Given the description of an element on the screen output the (x, y) to click on. 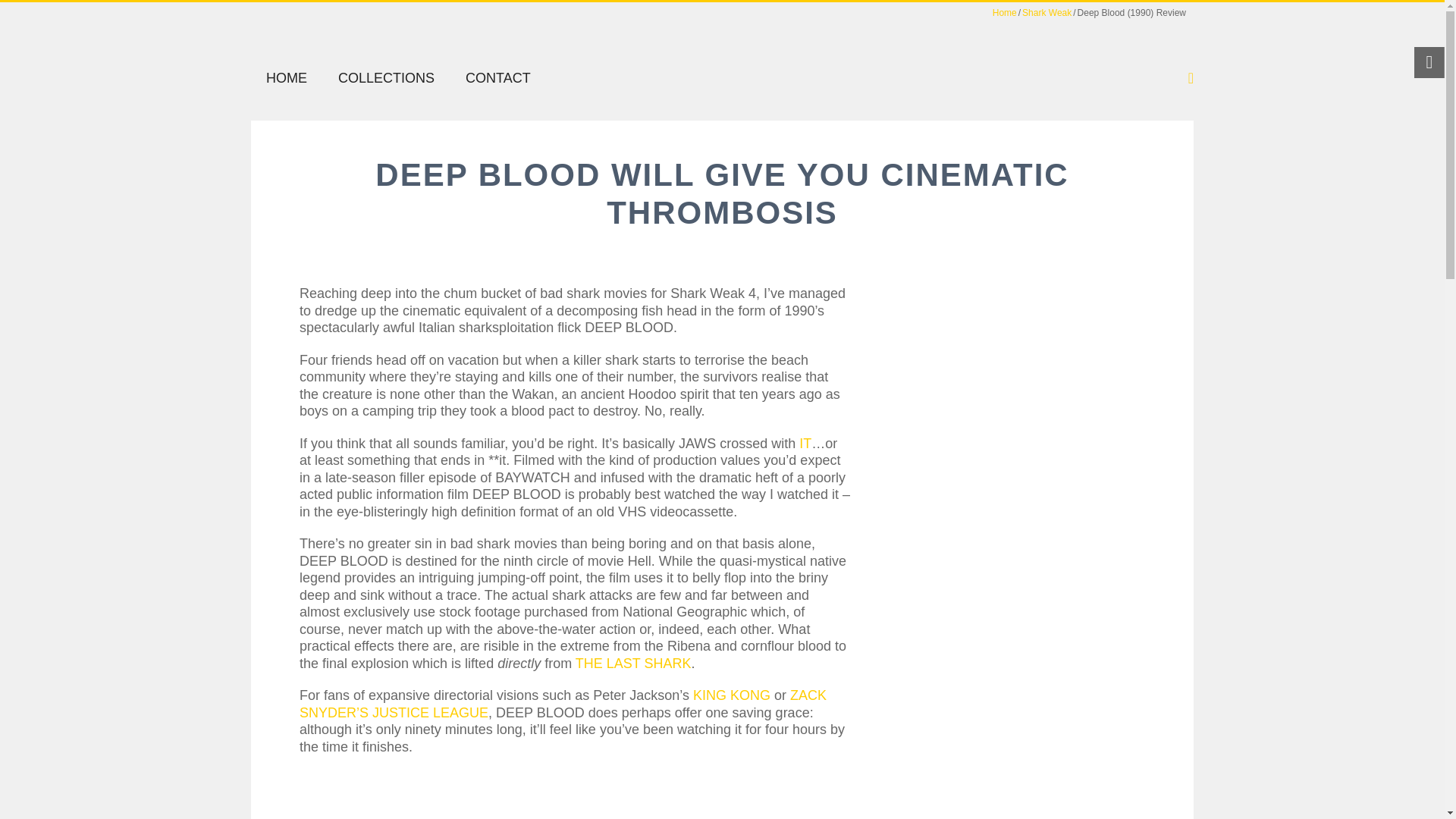
THE LAST SHARK (633, 663)
Home (1004, 12)
COLLECTIONS (386, 77)
Search (752, 87)
HOME (285, 77)
KING KONG (731, 694)
CONTACT (497, 77)
Shark Weak (1046, 12)
